Given the description of an element on the screen output the (x, y) to click on. 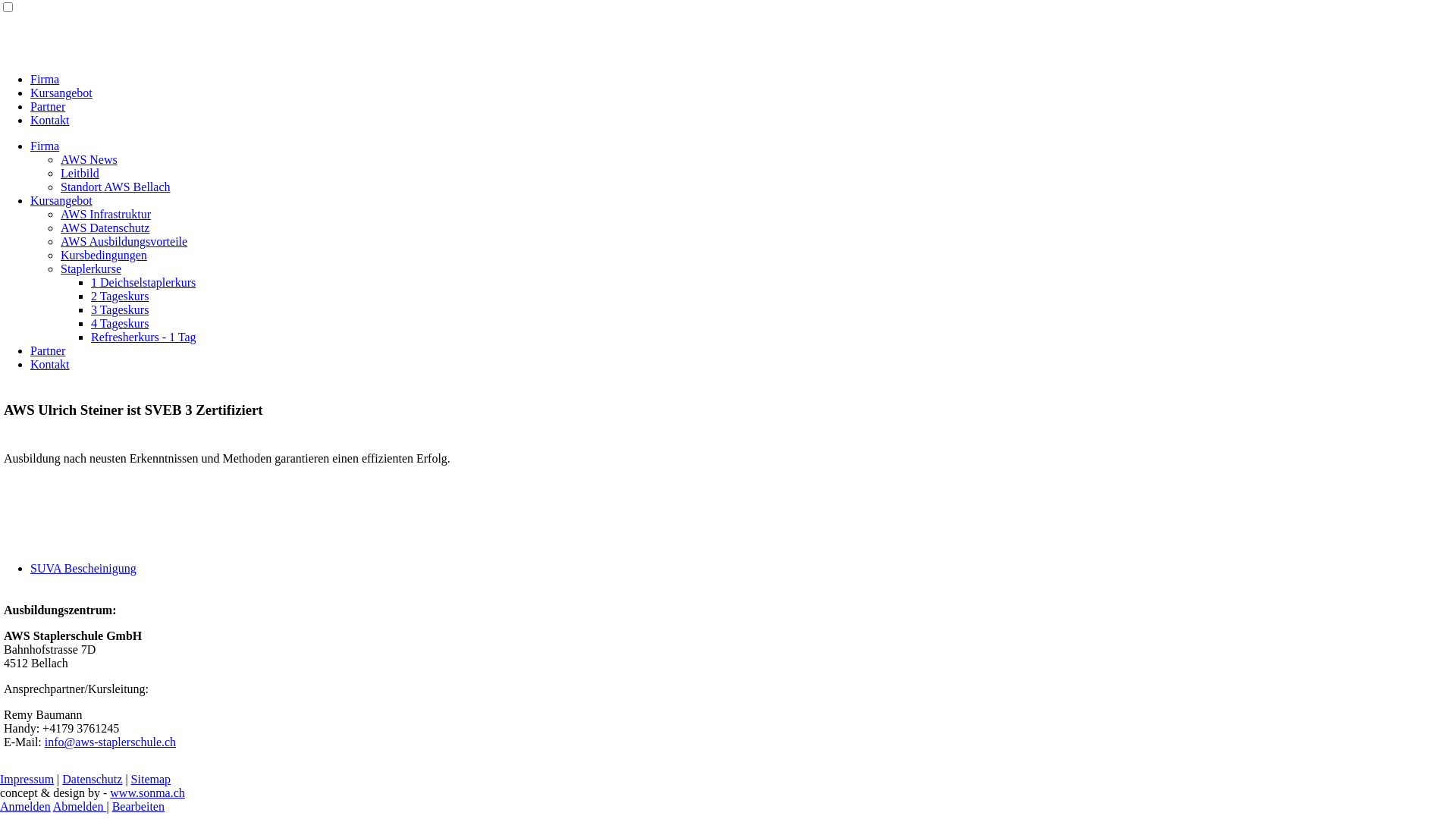
AWS Infrastruktur Element type: text (105, 213)
3 Tageskurs Element type: text (119, 309)
1 Deichselstaplerkurs Element type: text (143, 282)
AWS News Element type: text (88, 159)
SUVA Bescheinigung Element type: text (83, 567)
Kursbedingungen Element type: text (103, 254)
Standort AWS Bellach Element type: text (114, 186)
Kontakt Element type: text (49, 363)
AWS Ausbildungsvorteile Element type: text (123, 241)
Firma Element type: text (44, 145)
Partner Element type: text (47, 350)
Staplerkurse Element type: text (90, 268)
Leitbild Element type: text (79, 172)
Abmelden Element type: text (79, 806)
Anmelden Element type: text (25, 806)
Datenschutz Element type: text (92, 778)
Kursangebot Element type: text (61, 92)
Impressum Element type: text (26, 778)
Firma Element type: text (44, 78)
Refresherkurs - 1 Tag Element type: text (143, 336)
4 Tageskurs Element type: text (119, 322)
Bearbeiten Element type: text (138, 806)
AWS Datenschutz Element type: text (104, 227)
Kontakt Element type: text (49, 119)
Partner Element type: text (47, 106)
Sitemap Element type: text (150, 778)
www.sonma.ch Element type: text (147, 792)
2 Tageskurs Element type: text (119, 295)
info@aws-staplerschule.ch Element type: text (109, 741)
Kursangebot Element type: text (61, 200)
